Given the description of an element on the screen output the (x, y) to click on. 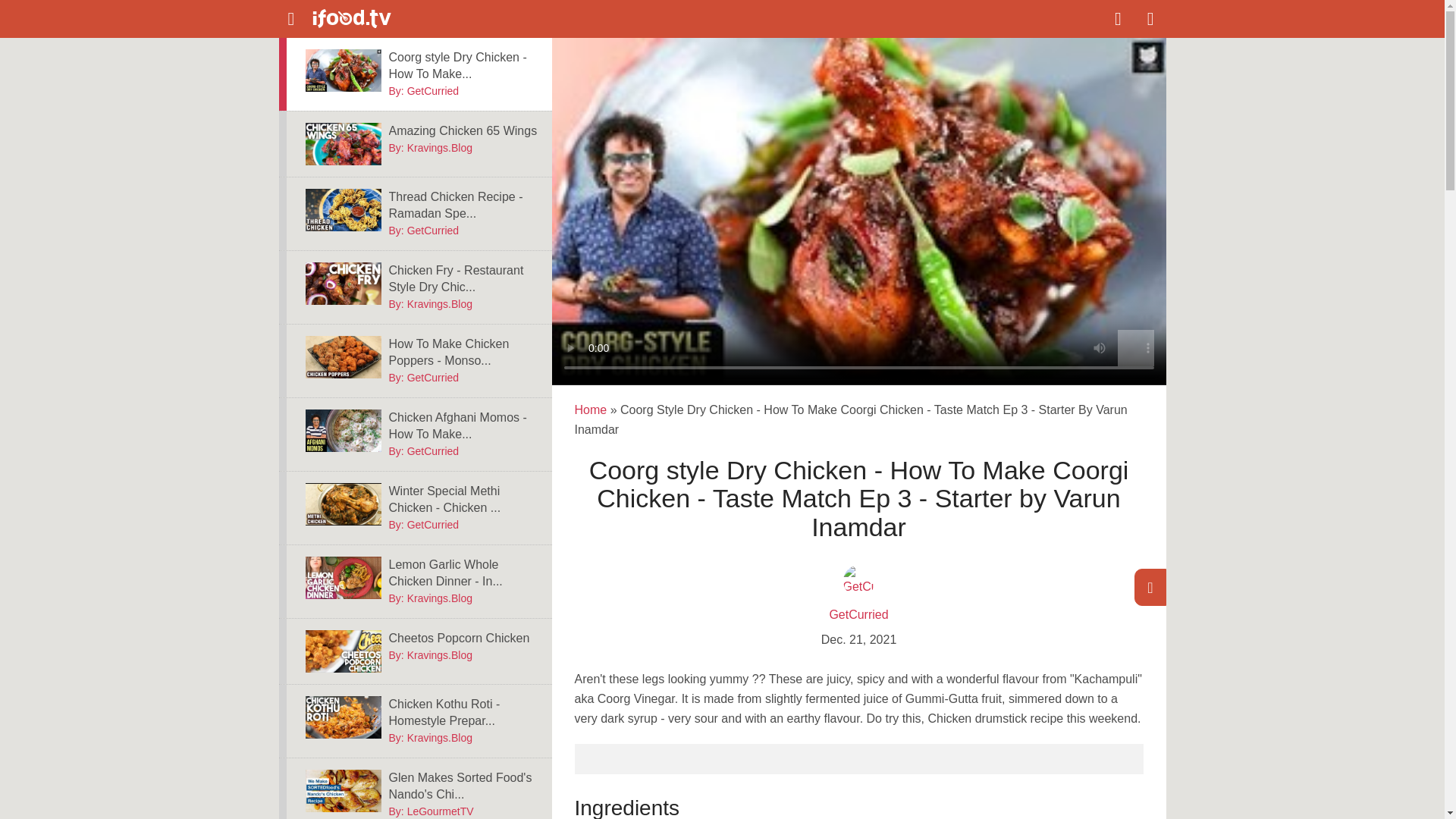
How To Make Chicken Poppers - Monsoon Recipe - Tarika (342, 356)
How To Make Chicken Poppers - Monsoon Recipe - Tarika (464, 352)
Amazing Chicken 65 Wings (342, 143)
Return to the ifood.tv home page (377, 19)
Chicken Fry - Restaurant Style Dry Chicken Recipe - Kravings (464, 278)
